Given the description of an element on the screen output the (x, y) to click on. 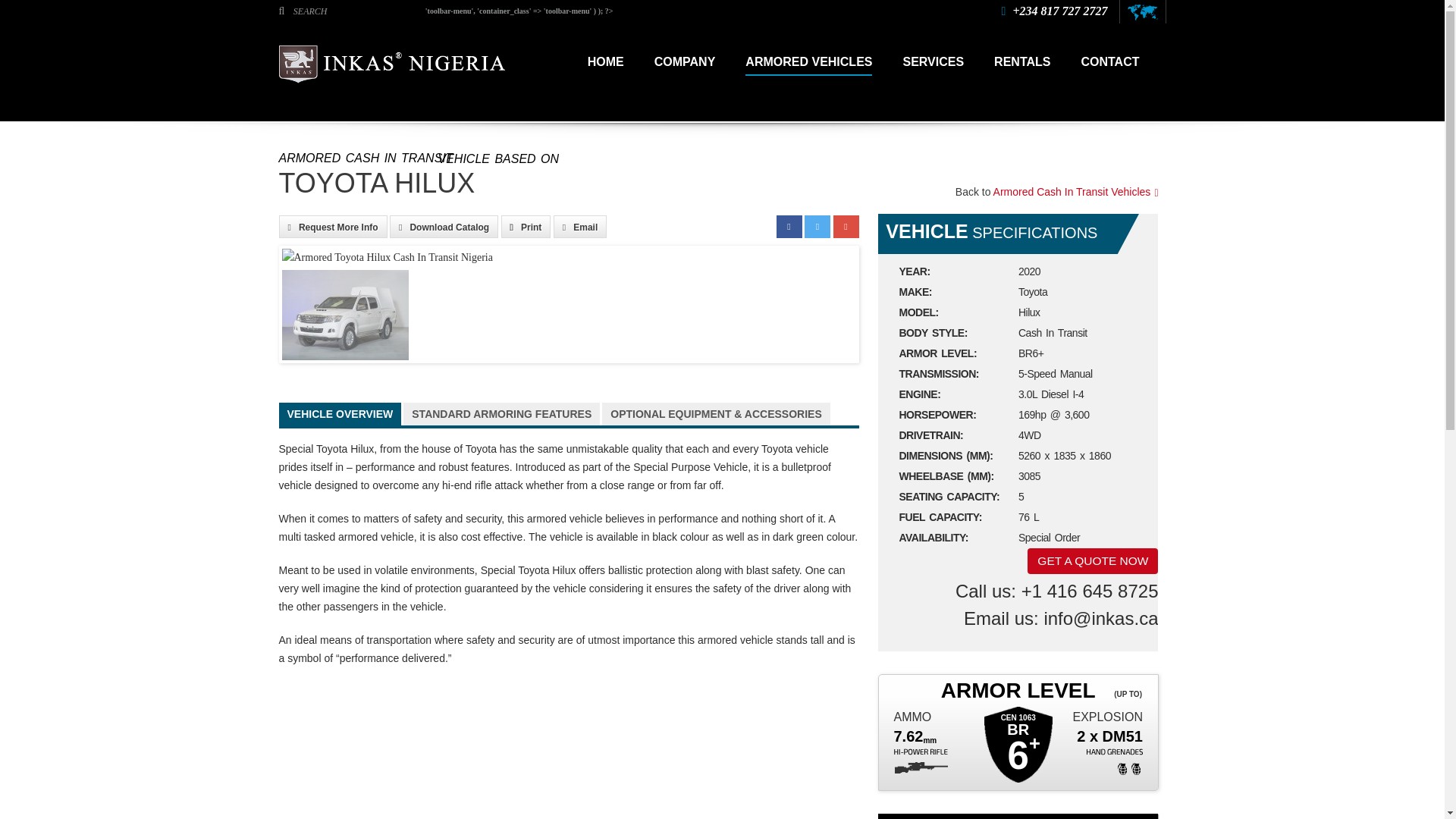
HOME (606, 62)
COMPANY (684, 62)
ARMORED VEHICLES (808, 63)
